Given the description of an element on the screen output the (x, y) to click on. 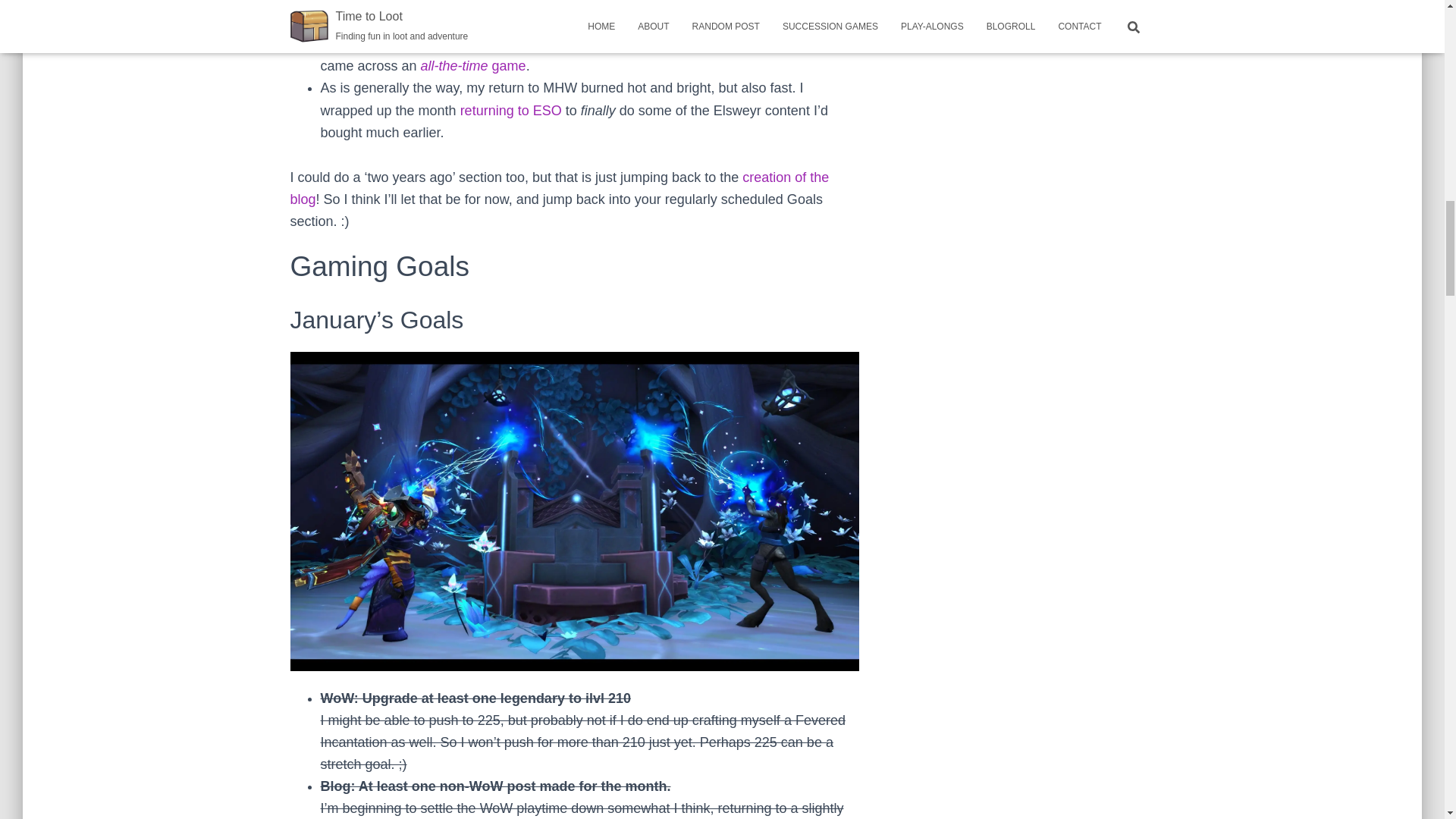
creation of the blog (558, 188)
returning to ESO (511, 110)
all-the-time game (472, 65)
return to Monster Hunter World (569, 3)
